Given the description of an element on the screen output the (x, y) to click on. 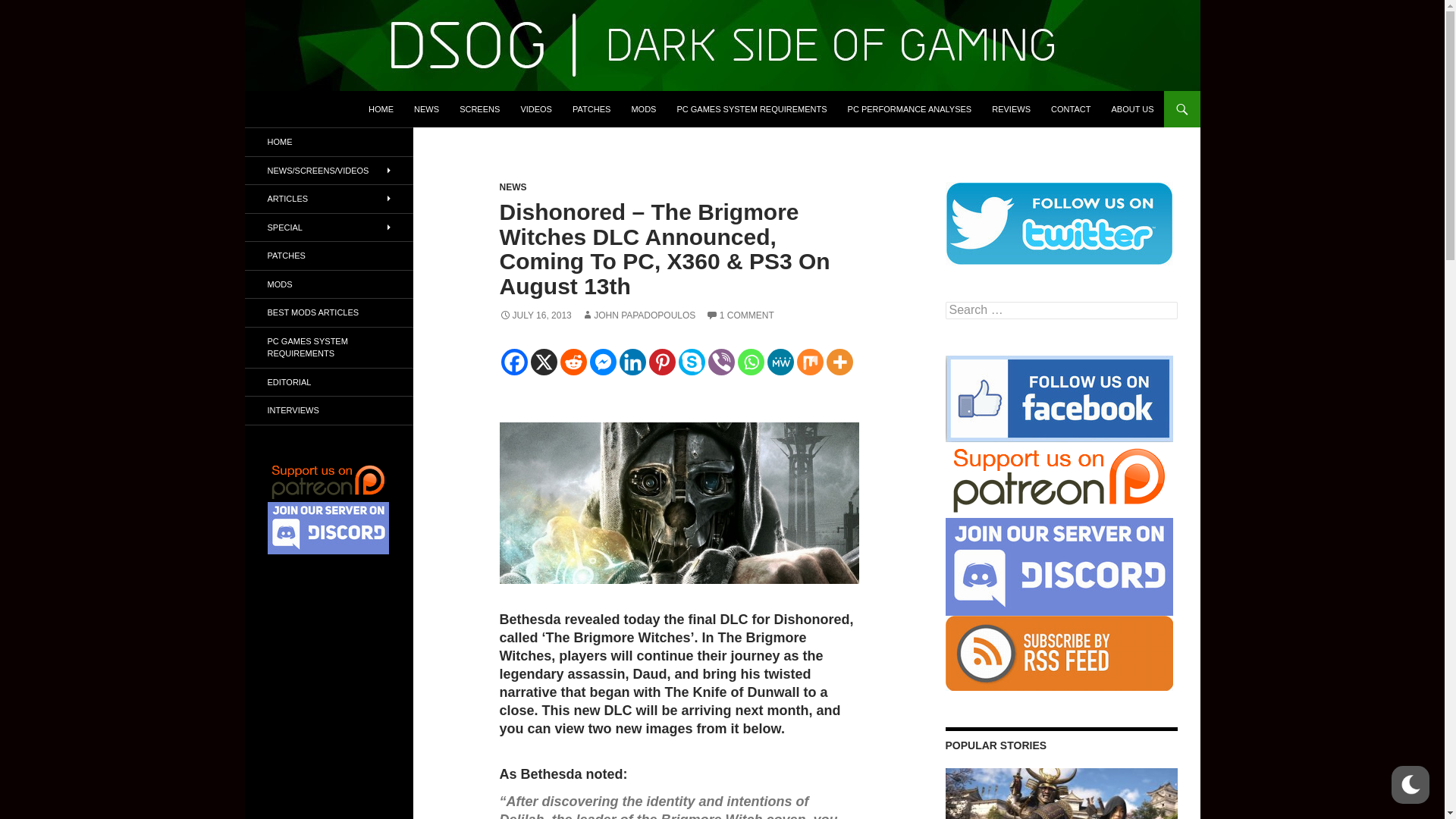
Linkedin (631, 361)
Reddit (572, 361)
VIDEOS (535, 108)
HOME (381, 108)
Whatsapp (749, 361)
More (840, 361)
MODS (643, 108)
REVIEWS (1010, 108)
SCREENS (478, 108)
Viber (721, 361)
PC GAMES SYSTEM REQUIREMENTS (750, 108)
Pinterest (662, 361)
Skype (691, 361)
